Given the description of an element on the screen output the (x, y) to click on. 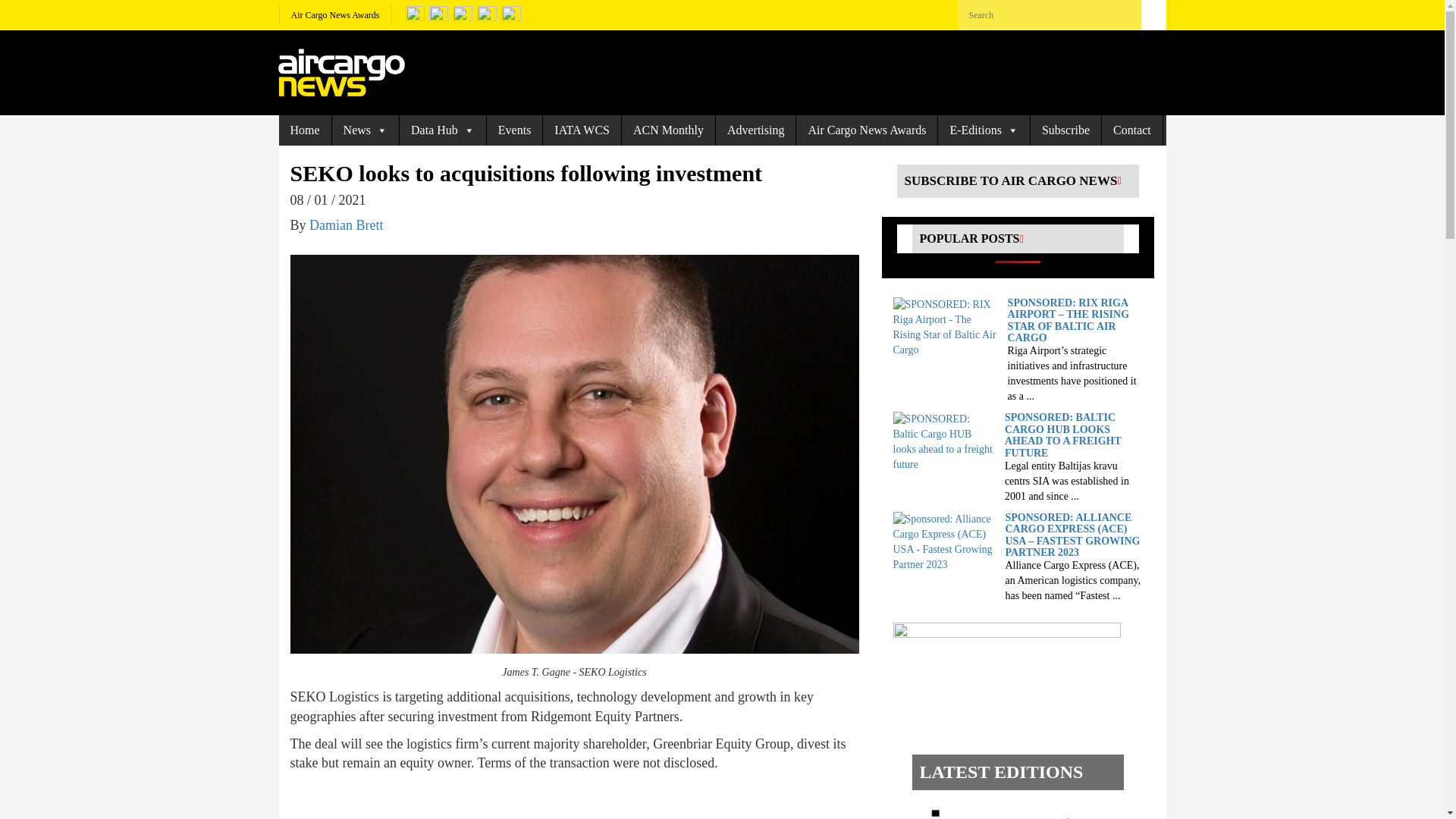
Air Cargo News Issue 906 -Summer 2024 (1002, 810)
Home (305, 130)
News (364, 130)
SPONSORED: Baltic Cargo HUB looks ahead to a freight future (945, 441)
Air Cargo News Awards (335, 14)
